Given the description of an element on the screen output the (x, y) to click on. 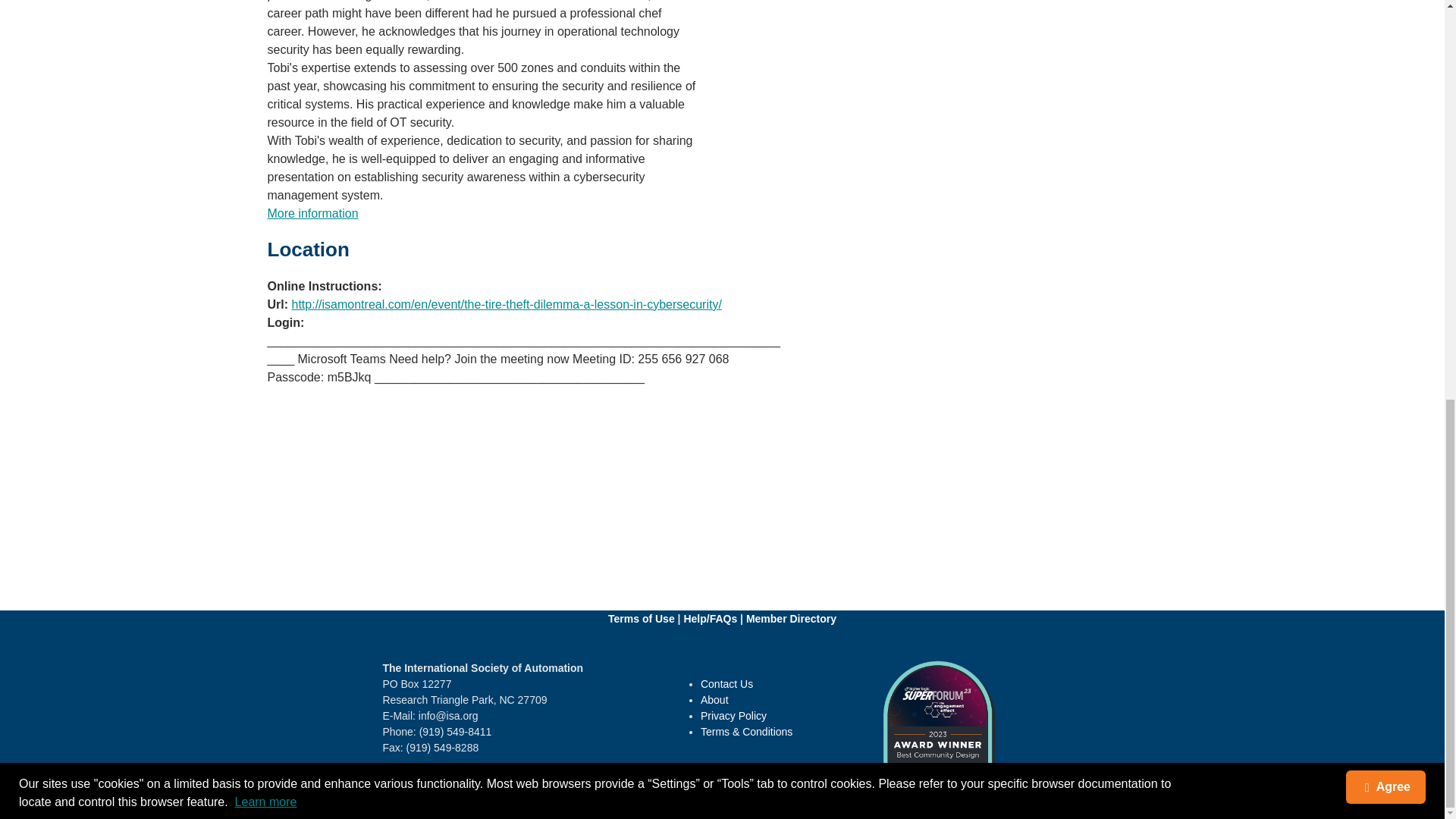
More information (312, 213)
Learn more (265, 22)
More information (312, 213)
 Agree (1385, 12)
3rd party ad content (721, 459)
